Given the description of an element on the screen output the (x, y) to click on. 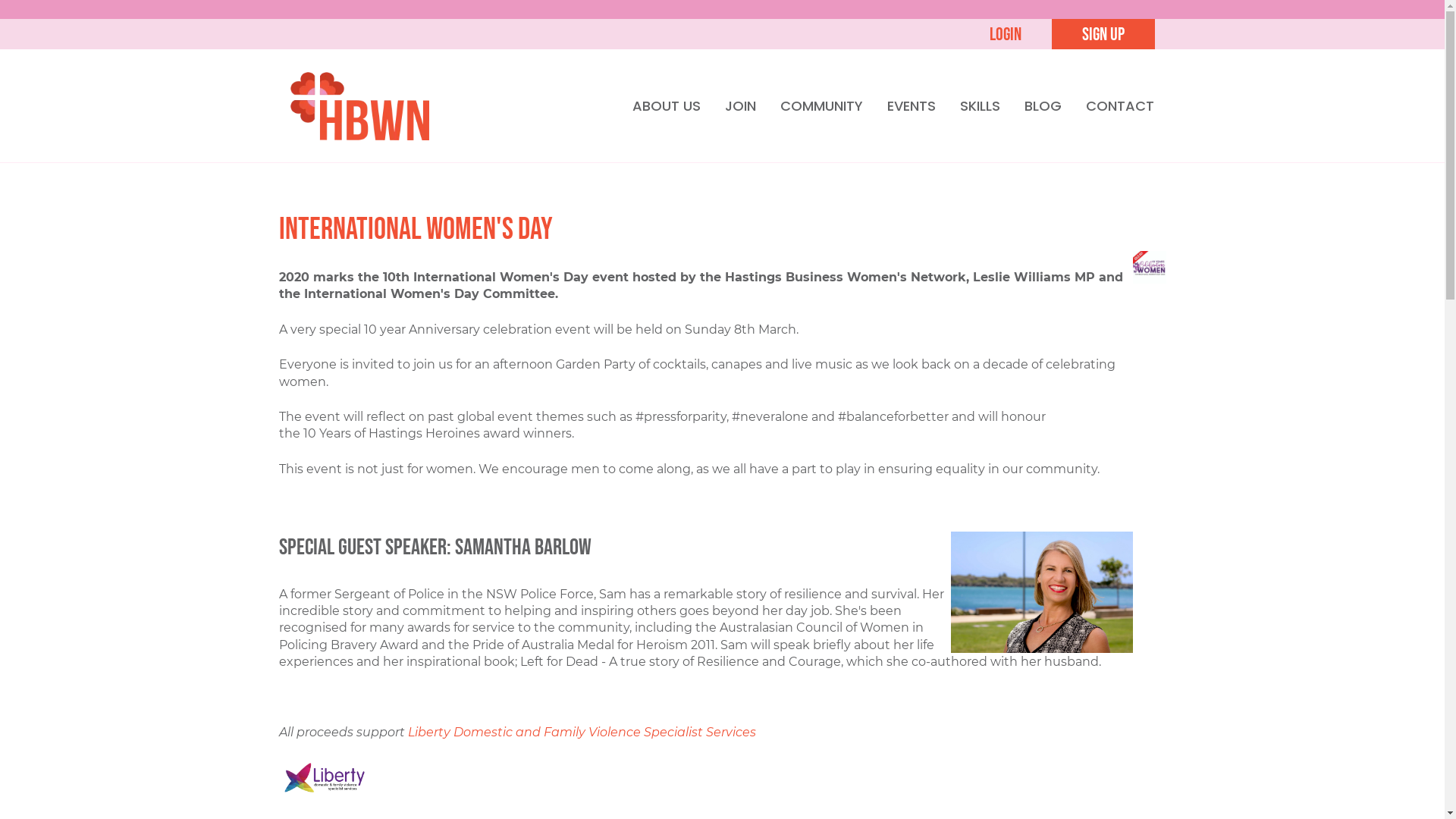
BLOG Element type: text (1042, 106)
EVENTS Element type: text (910, 106)
Hastings Business Womens Network Element type: hover (359, 104)
COMMUNITY Element type: text (821, 106)
Liberty Domestic and Family Violence Specialist Services Element type: text (581, 731)
ABOUT US Element type: text (665, 106)
SKILLS Element type: text (979, 106)
CONTACT Element type: text (1119, 106)
Sign up Element type: text (1102, 33)
JOIN Element type: text (739, 106)
LOGIN Element type: text (1004, 33)
